Given the description of an element on the screen output the (x, y) to click on. 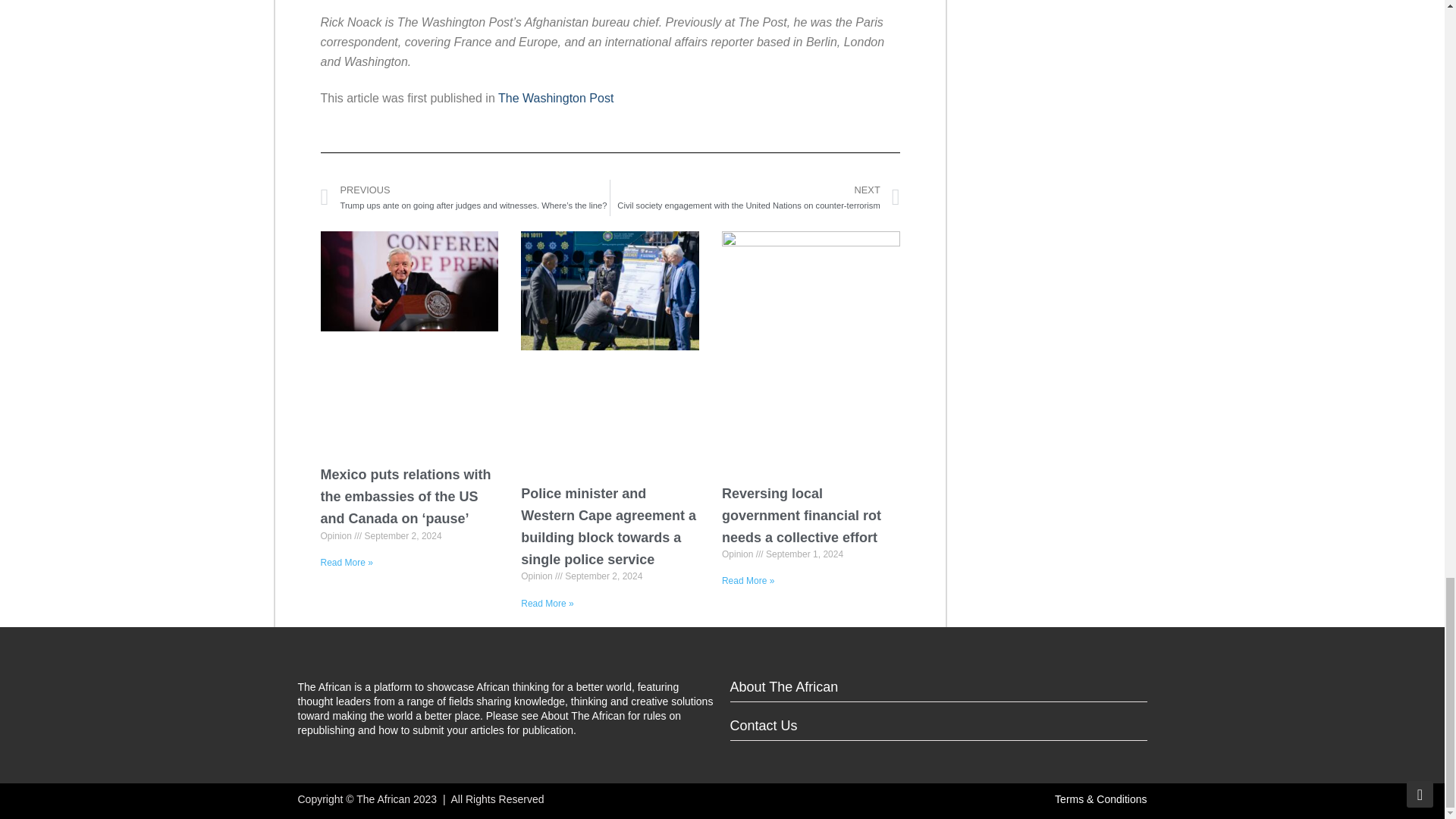
The Washington Post (554, 97)
The Washington Post (554, 97)
